Given the description of an element on the screen output the (x, y) to click on. 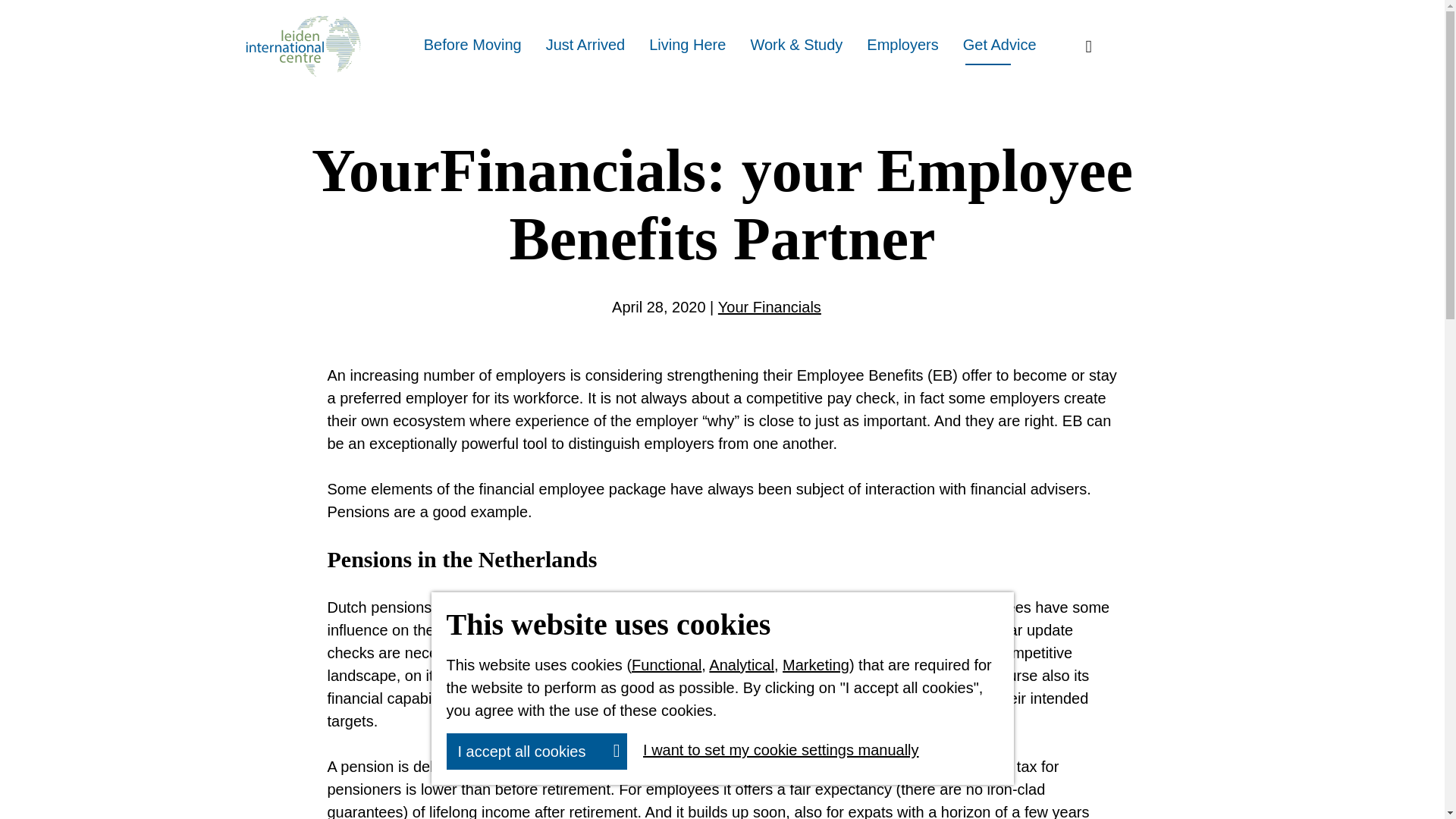
Marketing (815, 664)
Go to the homepage of Leiden International Centre (301, 45)
Living Here (687, 45)
Analytical (741, 664)
Employers (902, 45)
Before Moving (472, 45)
Functional (666, 664)
I accept all cookies (536, 751)
Just Arrived (585, 45)
I want to set my cookie settings manually (774, 749)
